Given the description of an element on the screen output the (x, y) to click on. 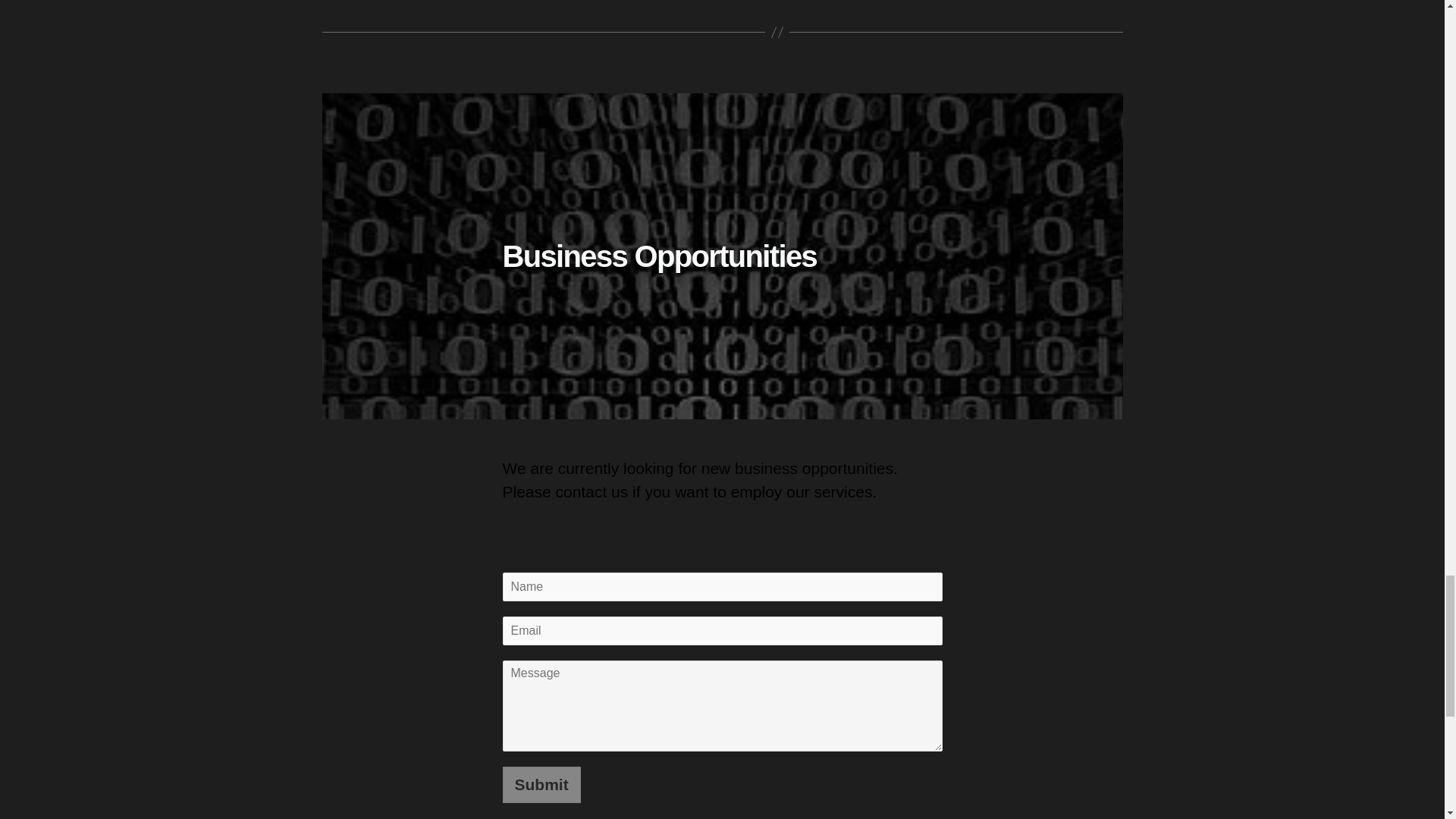
Submit (540, 784)
